Given the description of an element on the screen output the (x, y) to click on. 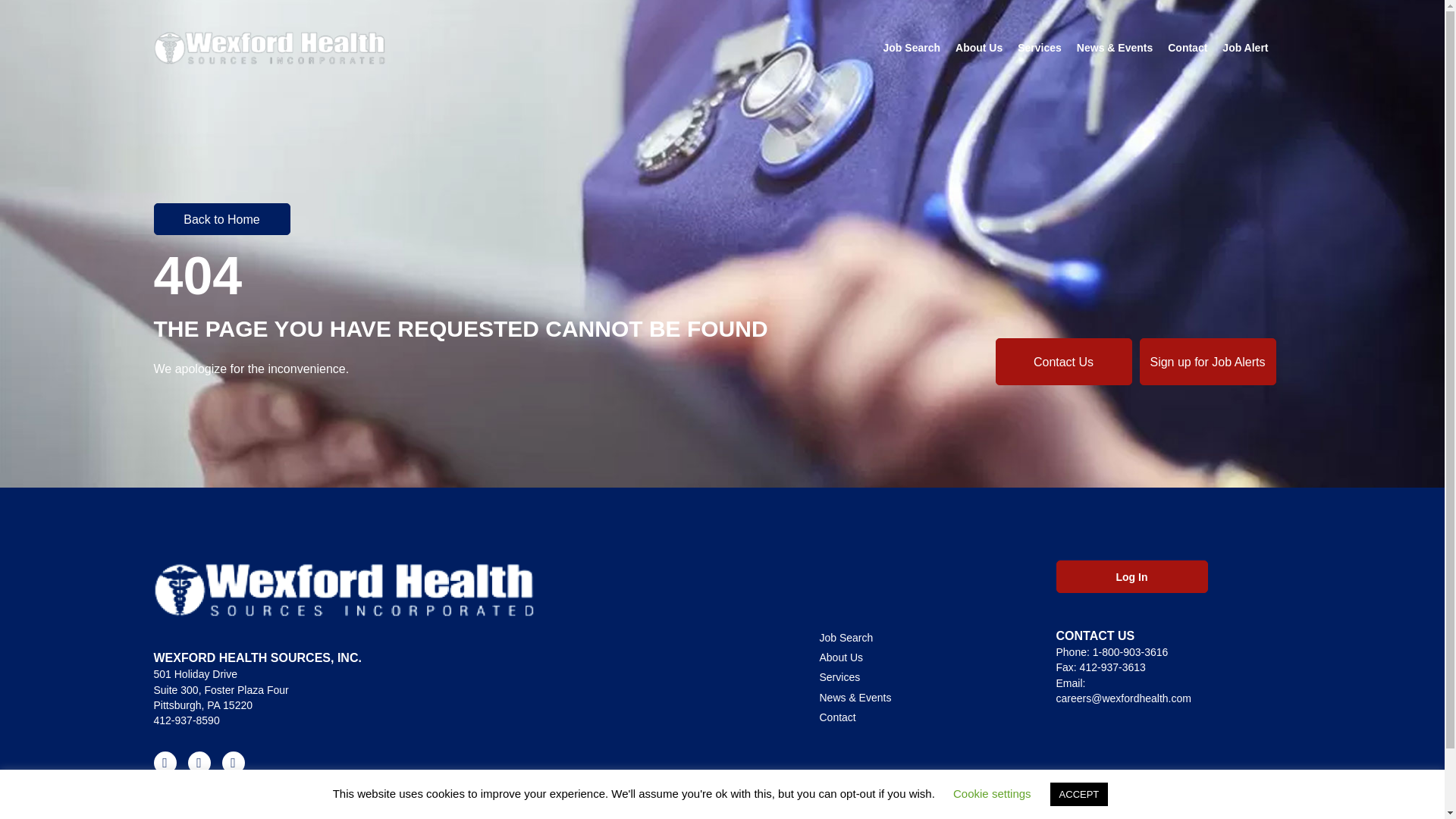
About Us (921, 657)
Log In (1131, 576)
1-800-903-3616 (1131, 652)
About Us (978, 47)
Contact Us (1062, 361)
Contact (921, 717)
Back to Home (220, 219)
Services (921, 677)
Services (1039, 47)
Job Search (921, 637)
Contact (1187, 47)
Staffing Future (286, 797)
Cookie settings (991, 793)
Instagram (232, 762)
Job Search (911, 47)
